Given the description of an element on the screen output the (x, y) to click on. 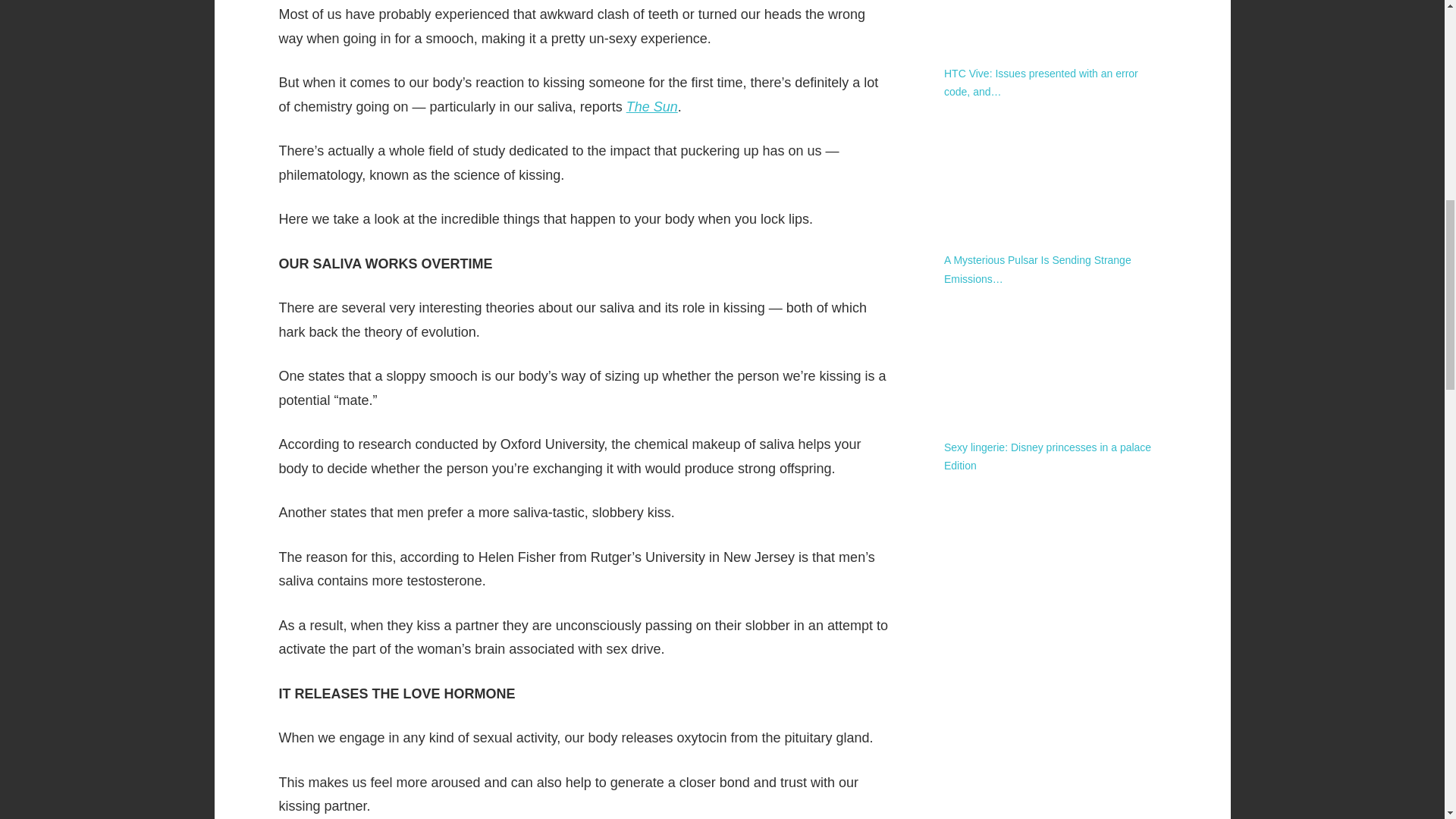
Sexy lingerie: Disney princesses in a palace Edition (1054, 360)
Sexy lingerie: Disney princesses in a palace Edition (1047, 456)
The Sun (652, 106)
